Given the description of an element on the screen output the (x, y) to click on. 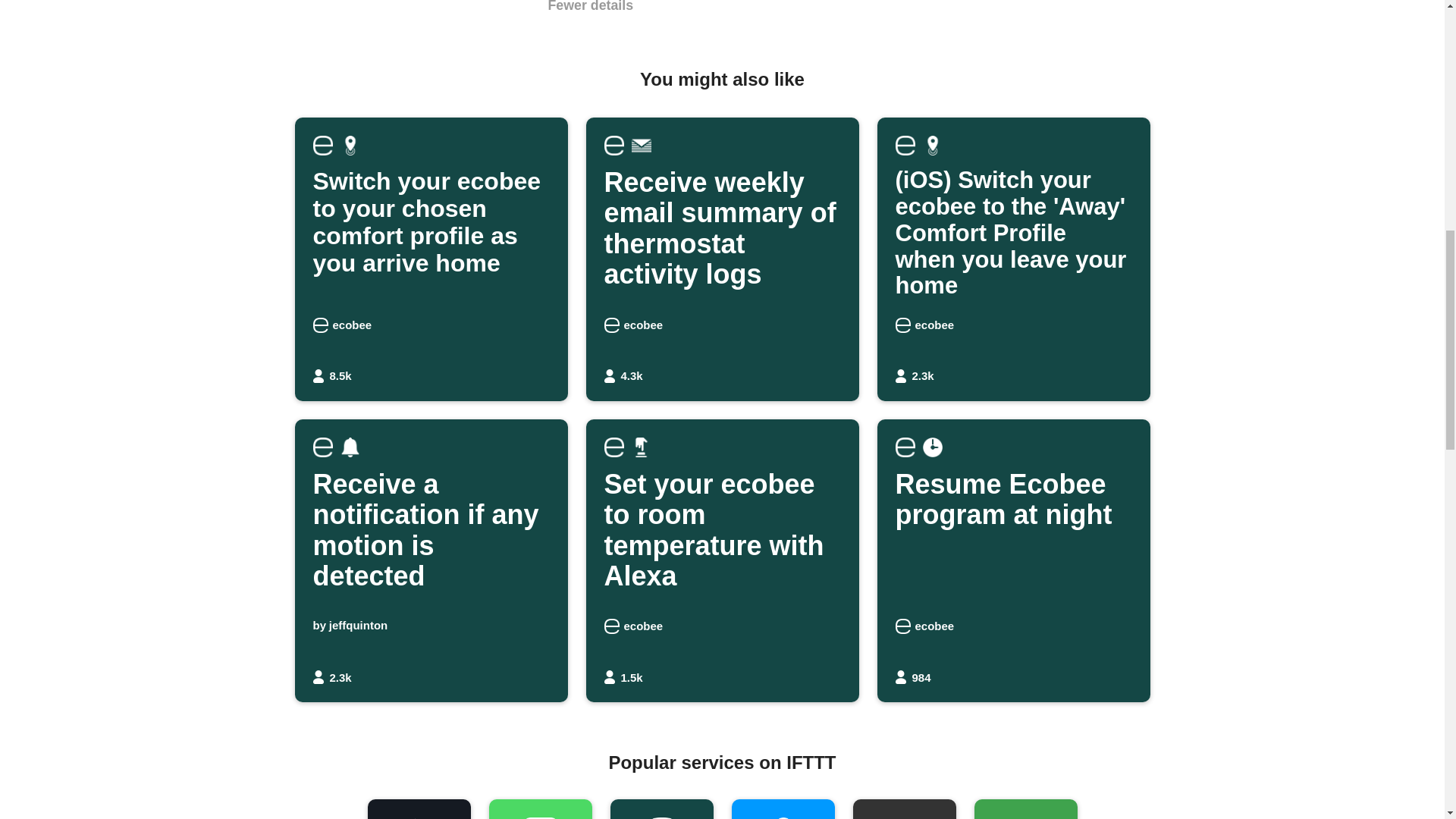
Welltory (418, 809)
Finance (1025, 809)
Fewer details (590, 8)
ecobee (661, 809)
Location (1013, 560)
Philips Hue (782, 809)
